Given the description of an element on the screen output the (x, y) to click on. 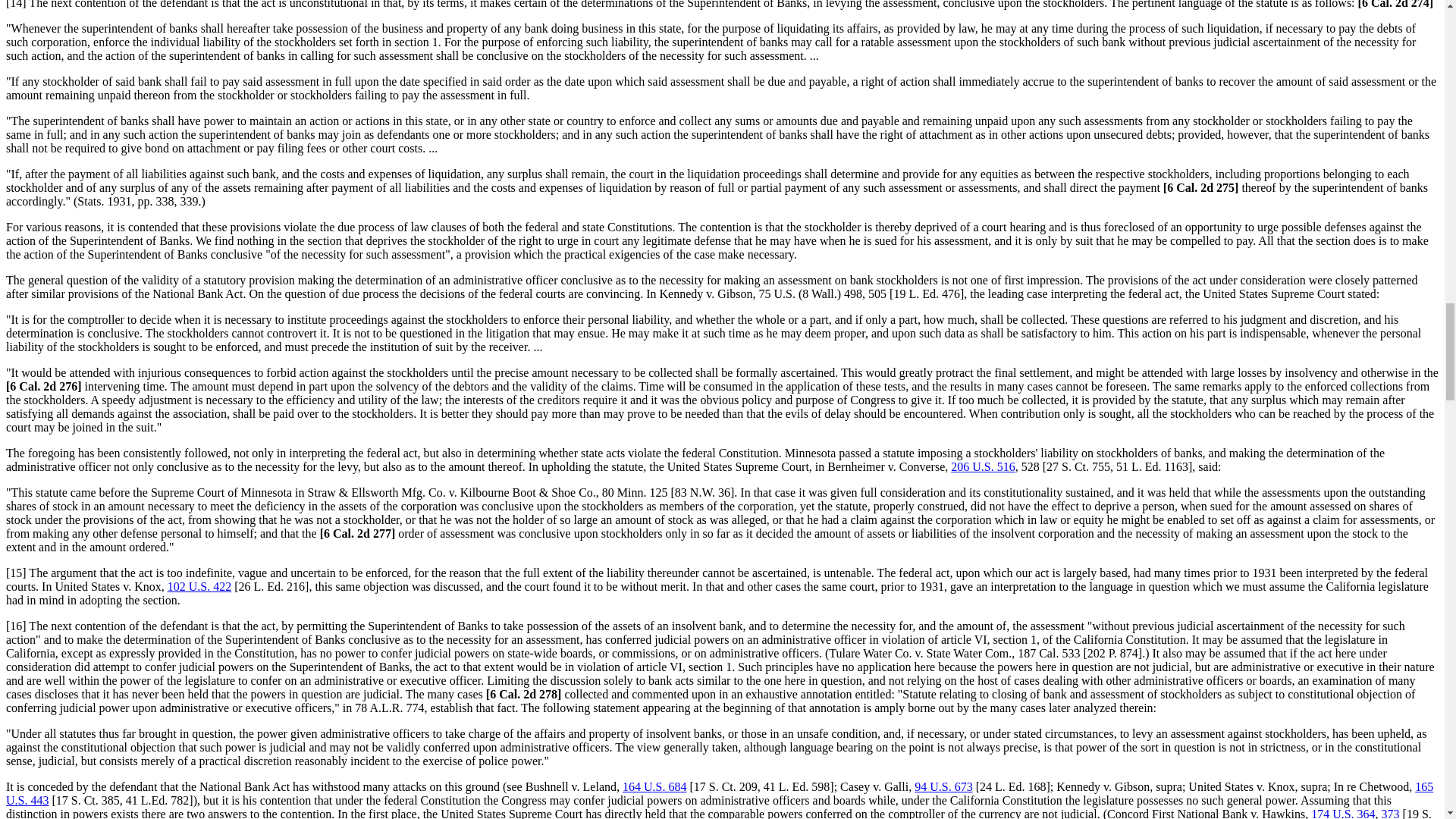
102 U.S. 422 (199, 585)
206 U.S. 516 (982, 466)
94 U.S. 673 (943, 786)
164 U.S. 684 (654, 786)
